Given the description of an element on the screen output the (x, y) to click on. 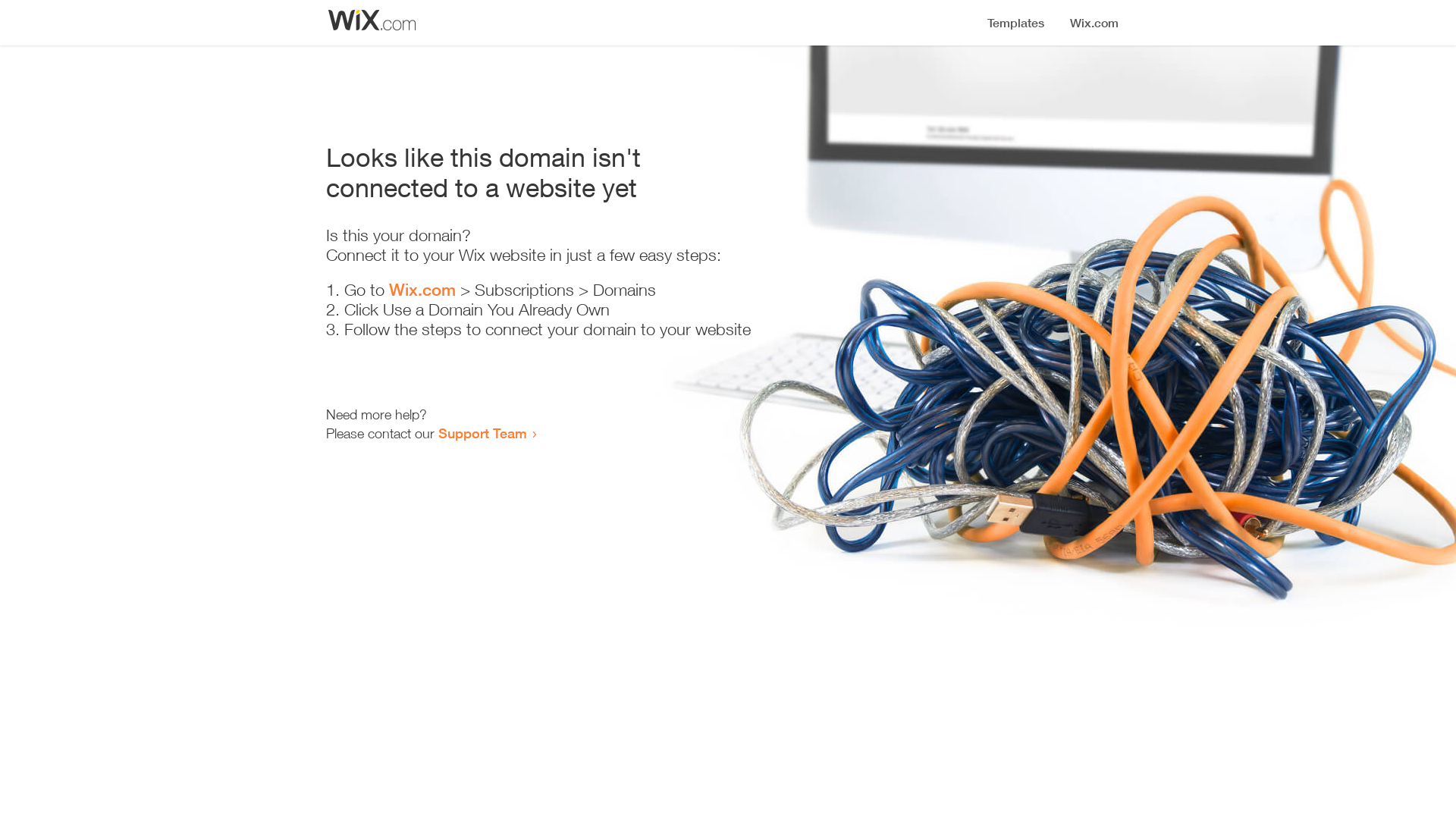
Support Team Element type: text (482, 432)
Wix.com Element type: text (422, 289)
